Given the description of an element on the screen output the (x, y) to click on. 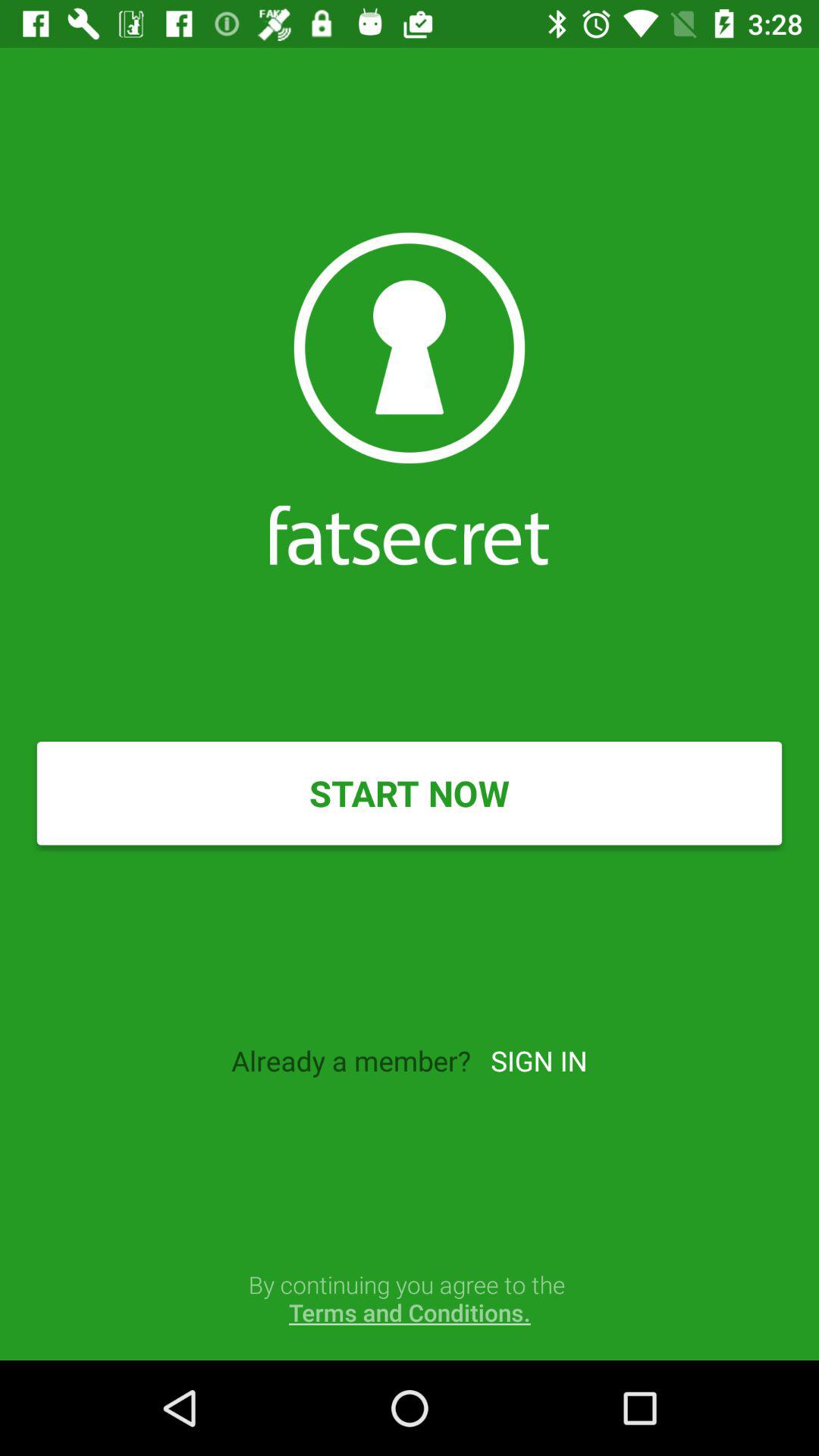
launch by continuing you icon (409, 1298)
